Given the description of an element on the screen output the (x, y) to click on. 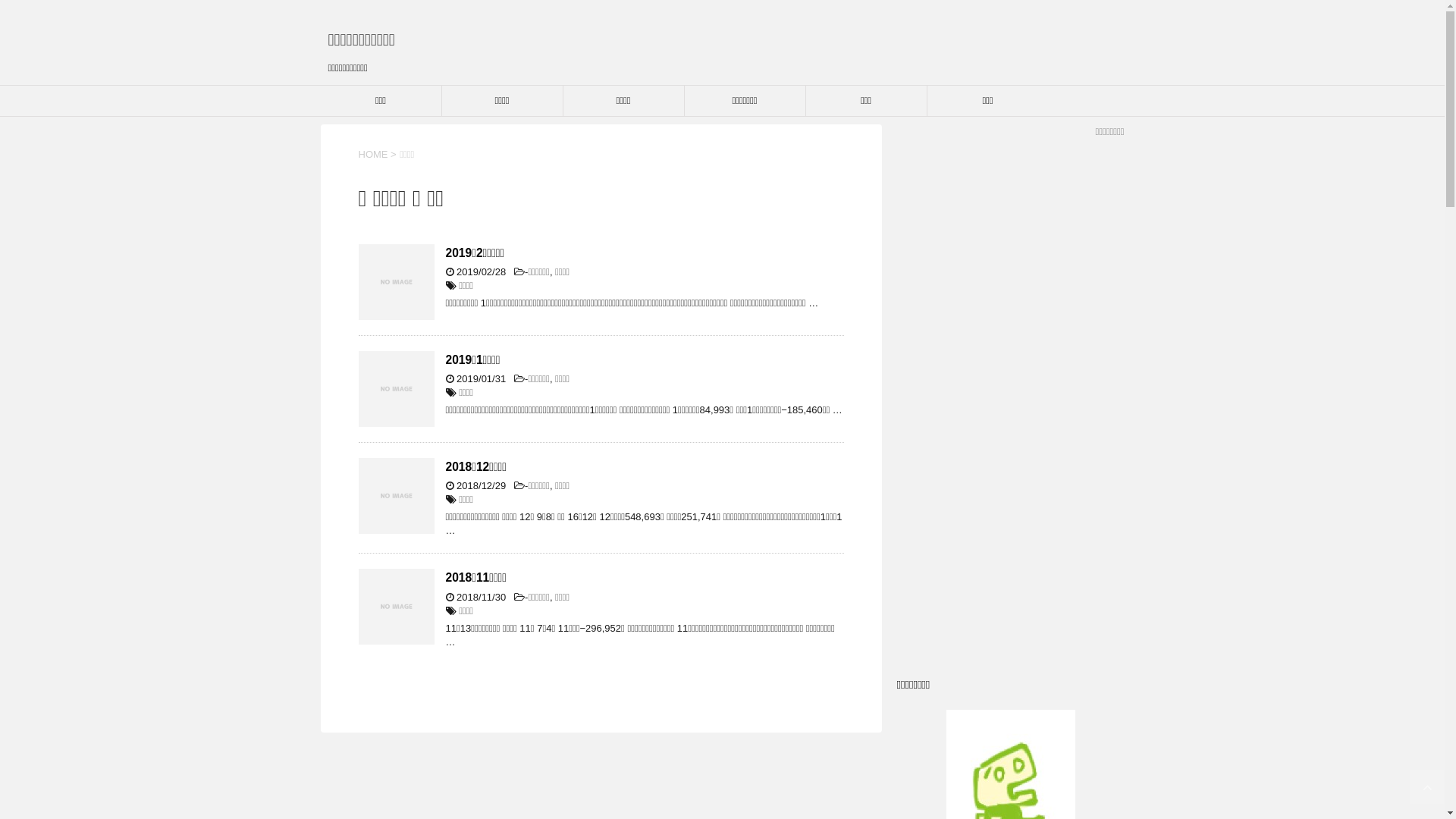
no image Element type: hover (395, 388)
Advertisement Element type: hover (1009, 404)
no image Element type: hover (395, 606)
no image Element type: hover (395, 495)
HOME Element type: text (372, 154)
no image Element type: hover (395, 282)
